Given the description of an element on the screen output the (x, y) to click on. 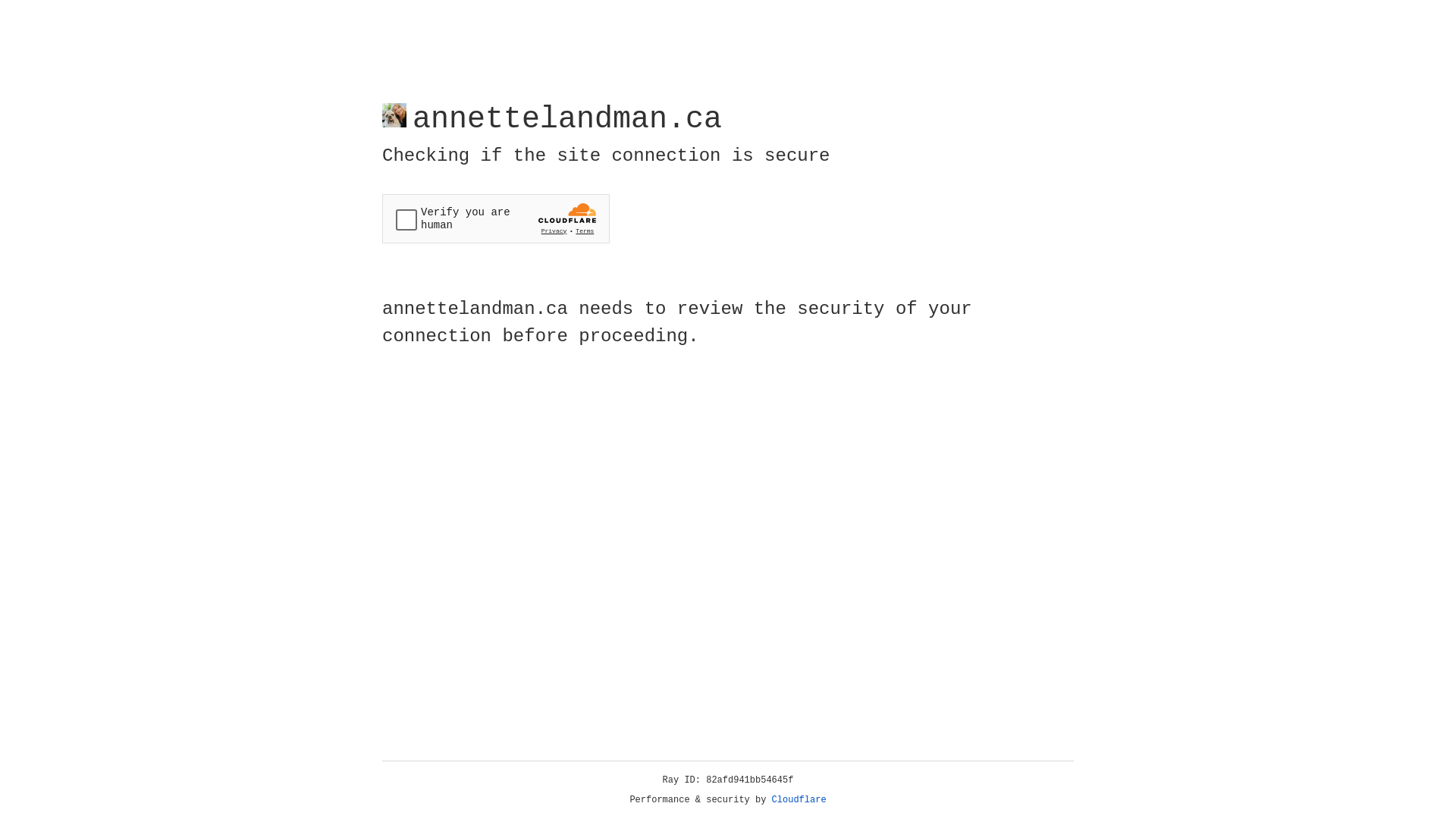
Cloudflare Element type: text (798, 799)
Widget containing a Cloudflare security challenge Element type: hover (495, 218)
